Given the description of an element on the screen output the (x, y) to click on. 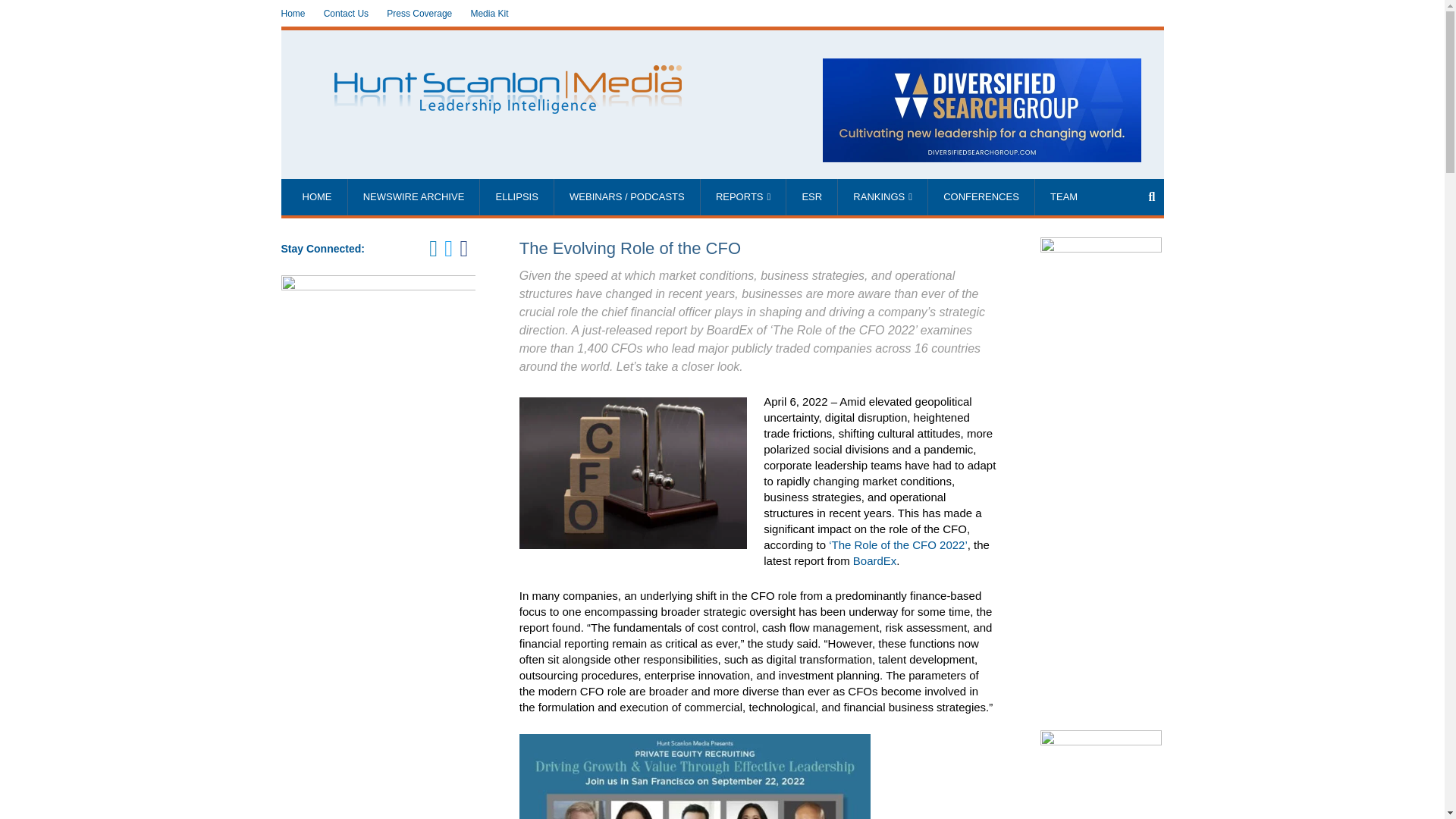
HOME (316, 197)
NEWSWIRE ARCHIVE (413, 197)
Home (292, 13)
ELLIPSIS (516, 197)
REPORTS (743, 197)
Webinars and podcasts on talent and recruiting trends (627, 197)
Contact Us (345, 13)
Press Coverage (419, 13)
Media Kit (489, 13)
